Given the description of an element on the screen output the (x, y) to click on. 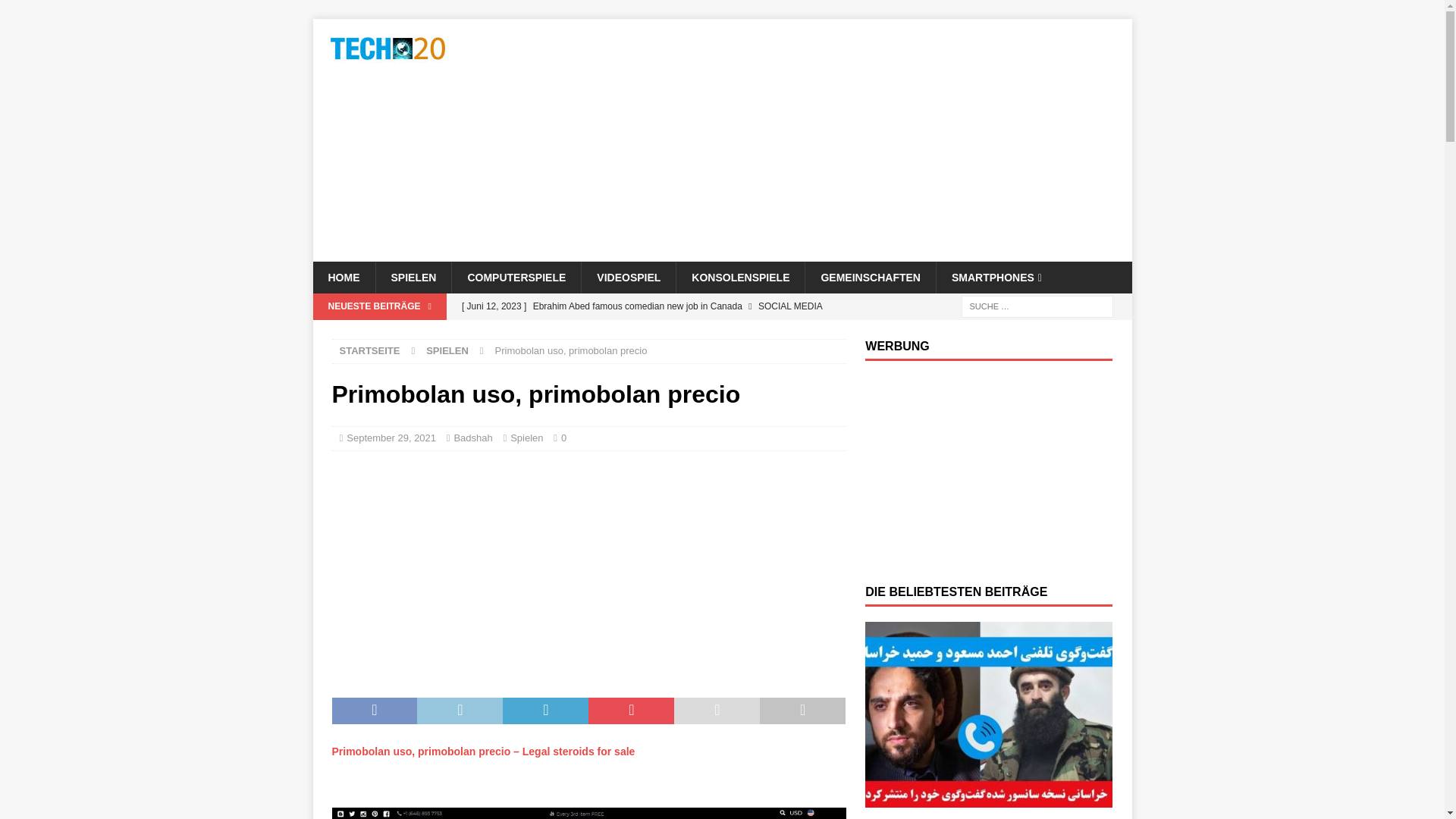
Primobolan uso (588, 813)
GEMEINSCHAFTEN (869, 277)
KONSOLENSPIELE (740, 277)
SMARTPHONES (996, 277)
SPIELEN (412, 277)
Suche (56, 11)
COMPUTERSPIELE (515, 277)
SPIELEN (447, 350)
September 29, 2021 (390, 437)
